Given the description of an element on the screen output the (x, y) to click on. 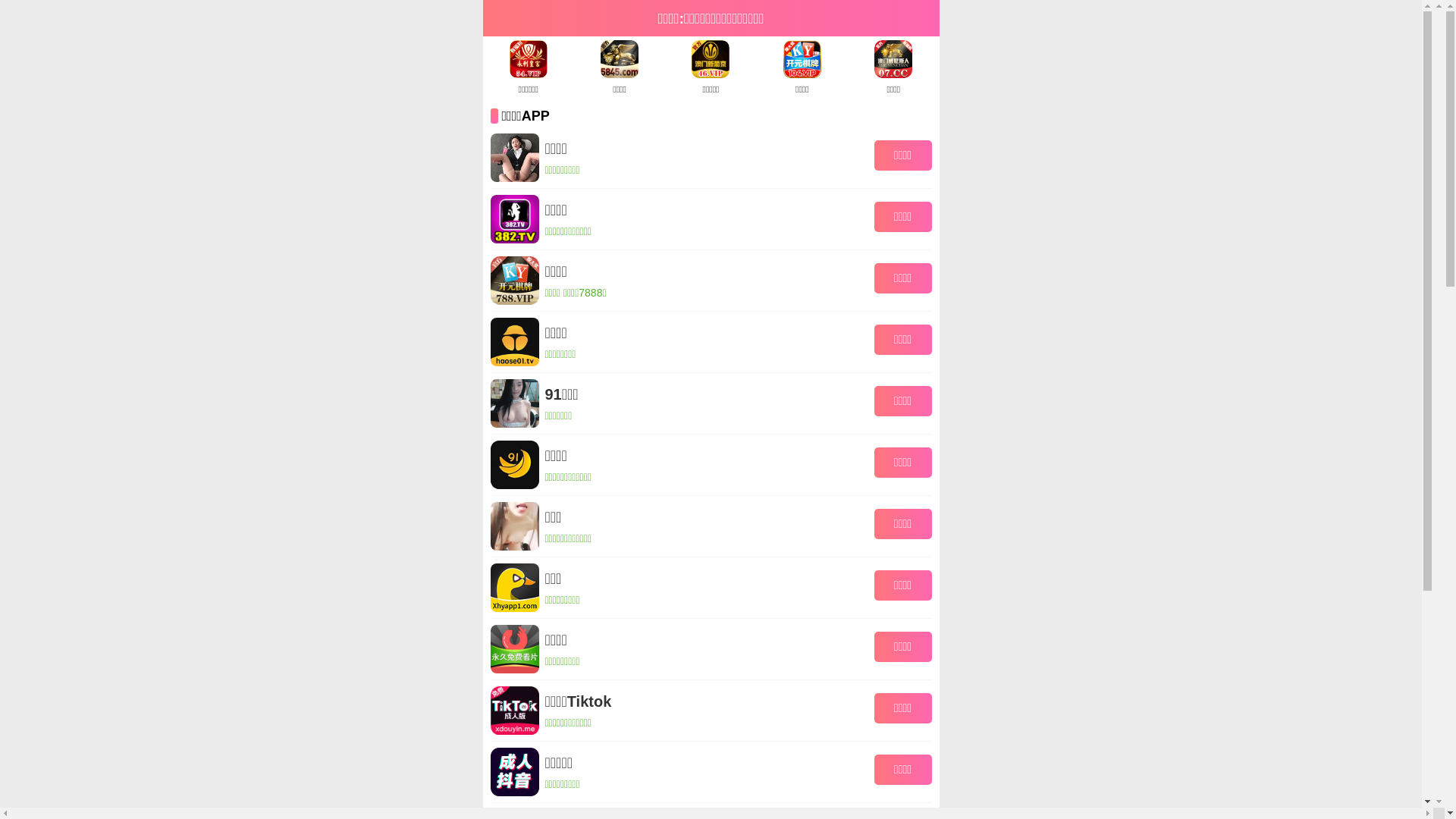
More>> Element type: text (1072, 475)
More>> Element type: text (1120, 740)
More>> Element type: text (807, 475)
